Given the description of an element on the screen output the (x, y) to click on. 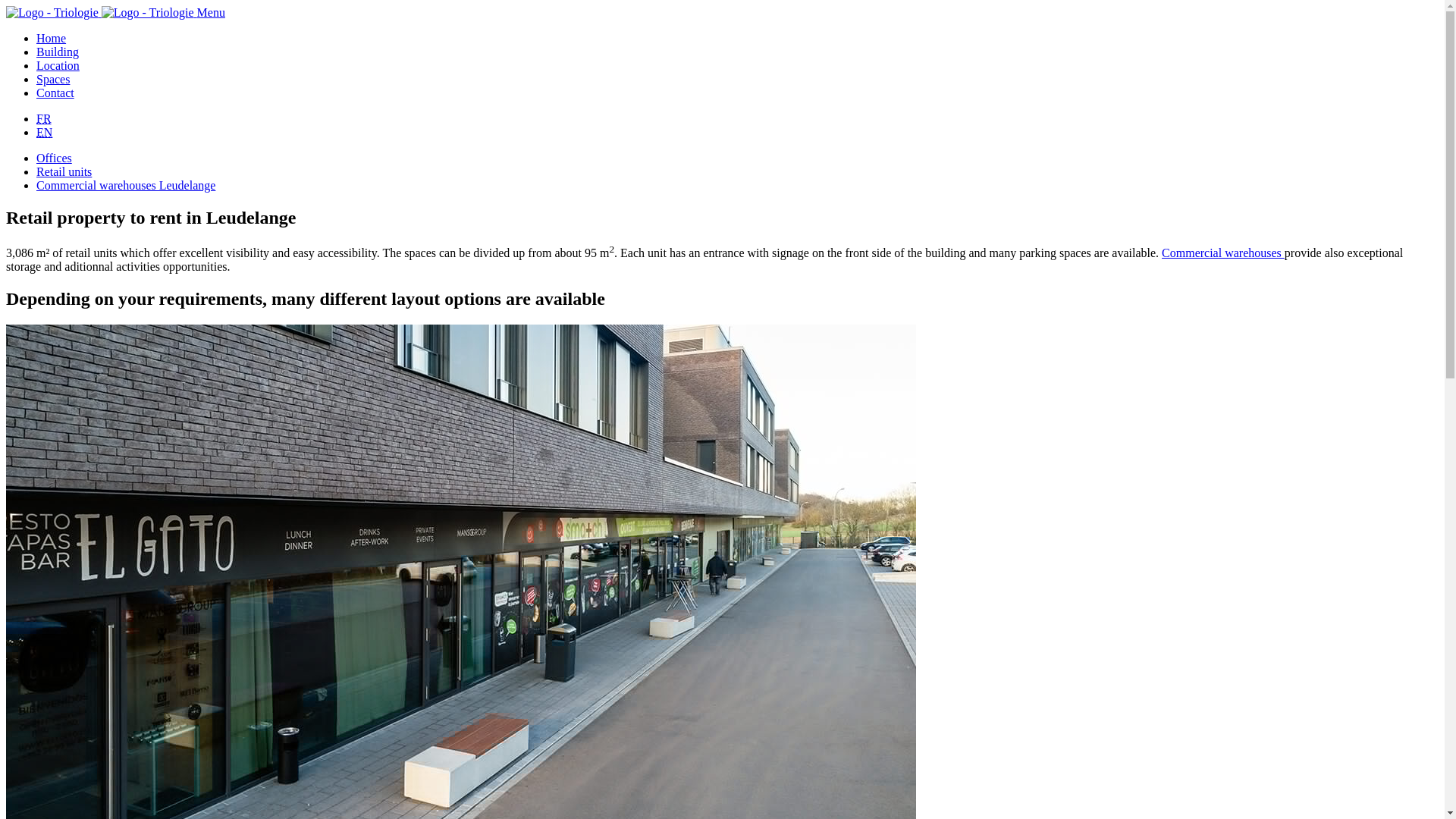
Home (50, 38)
Fully flexible office rental in Leudelange (53, 157)
Commercial warehouses Leudelange (125, 185)
Triologie (147, 12)
Menu (210, 11)
Location (58, 65)
Retail units (63, 171)
Fully flexible commercial warehouses to rent in Leudelange (125, 185)
Triologie (52, 12)
